Given the description of an element on the screen output the (x, y) to click on. 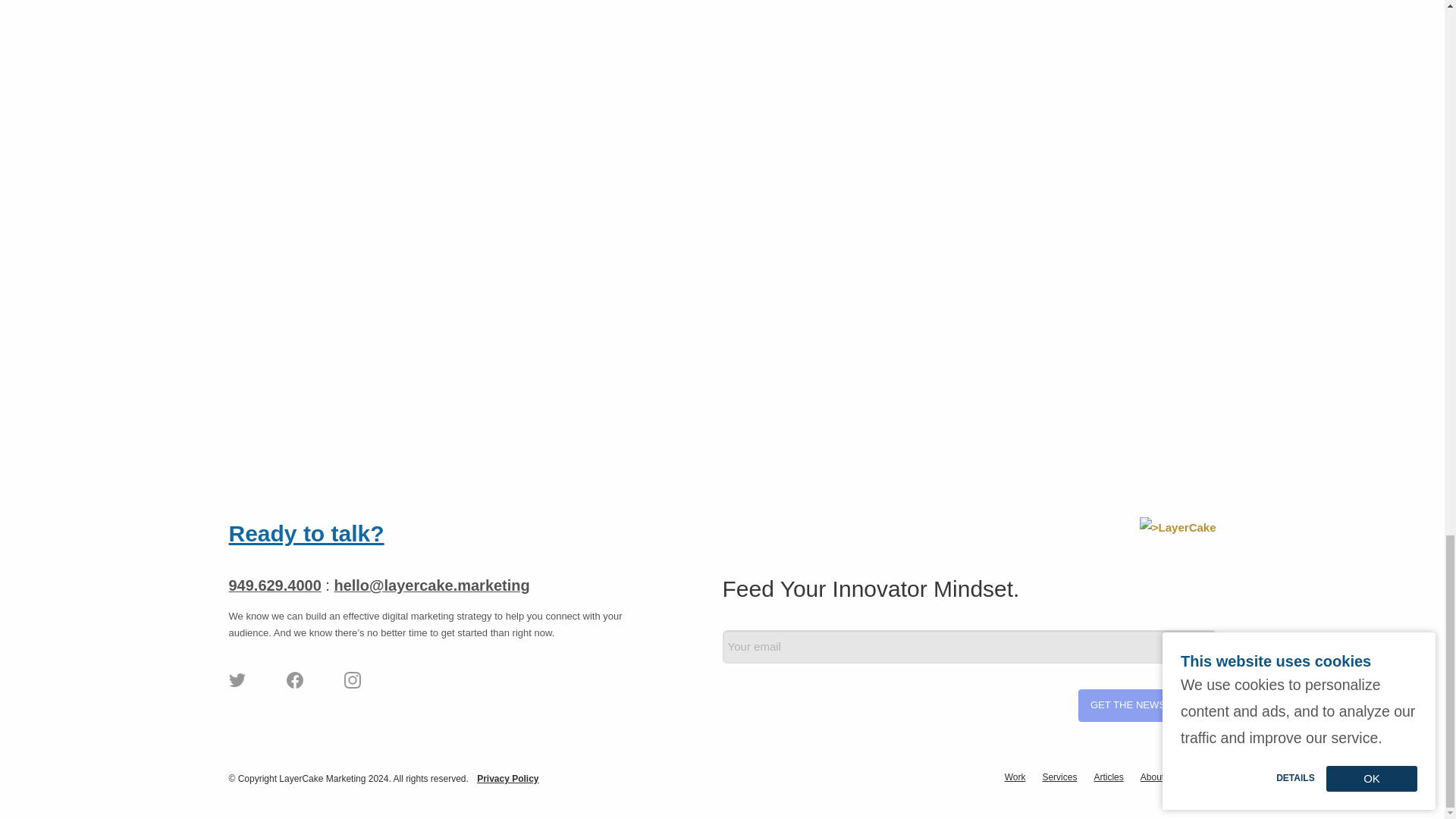
GET THE NEWSLETTER (1146, 705)
Work (1015, 777)
Twitter (237, 685)
949.629.4000 (274, 585)
Instagram (352, 685)
Services (1059, 777)
Privacy Policy (507, 778)
Ready to talk? (306, 533)
Articles (1107, 777)
About (1151, 777)
Facebook (294, 685)
Contact (1195, 777)
